Given the description of an element on the screen output the (x, y) to click on. 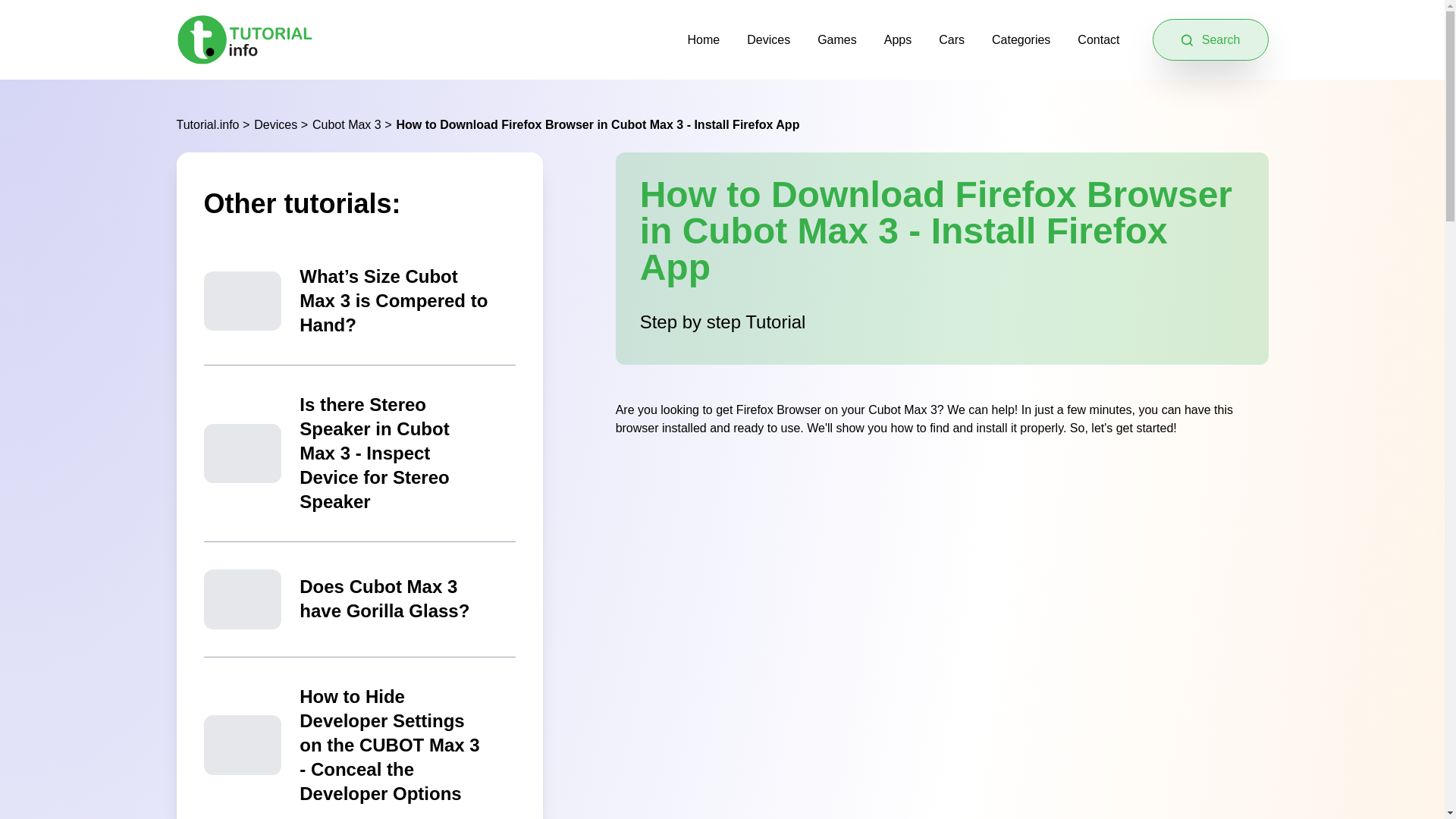
Home (703, 39)
Games (836, 39)
Apps (897, 39)
Devices (768, 39)
Cars (951, 39)
